Given the description of an element on the screen output the (x, y) to click on. 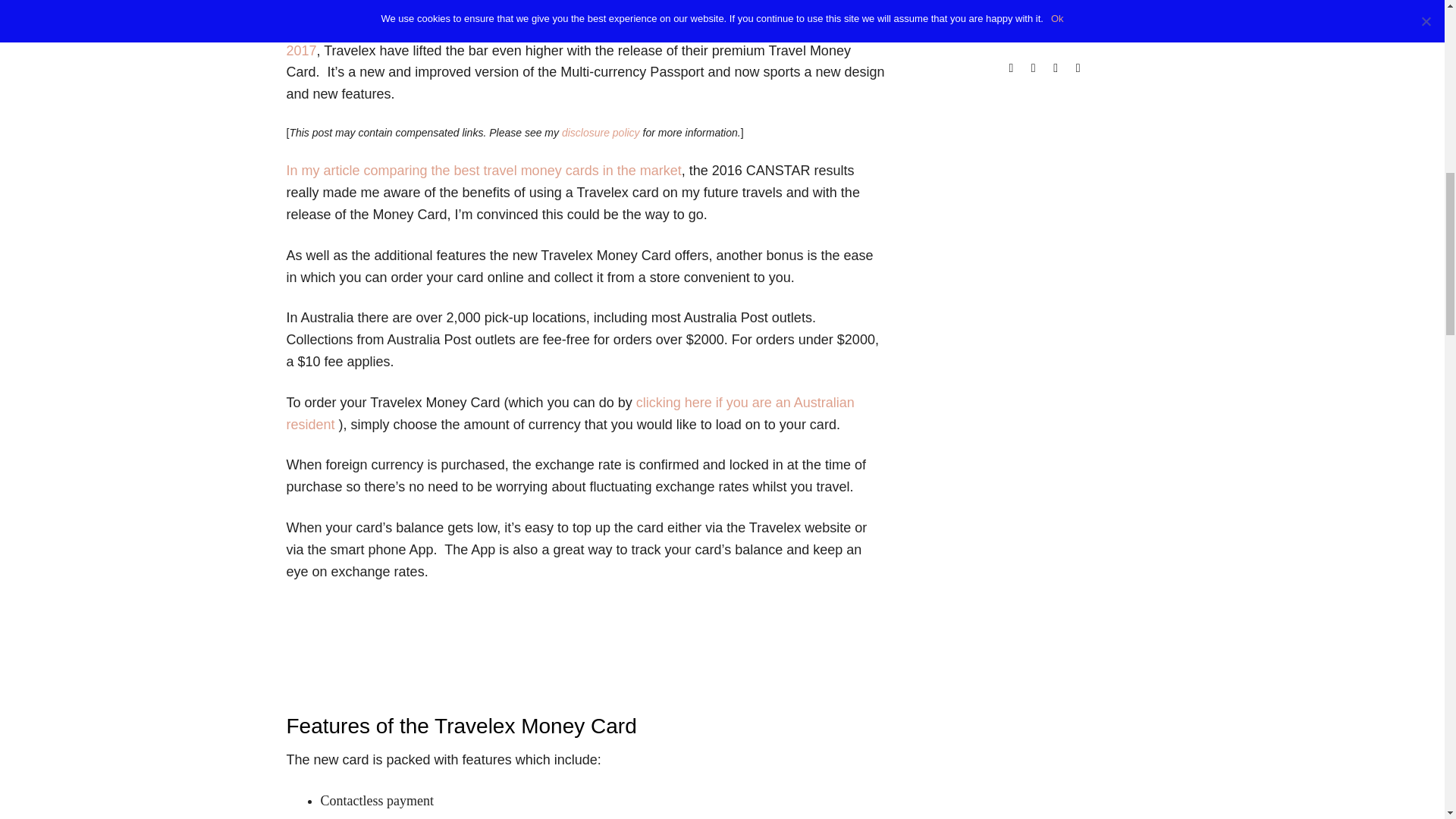
Travelex Money Card (570, 413)
Which Travel Money Card is best? (483, 170)
Canstar travel money card insights 2017 (576, 39)
